Given the description of an element on the screen output the (x, y) to click on. 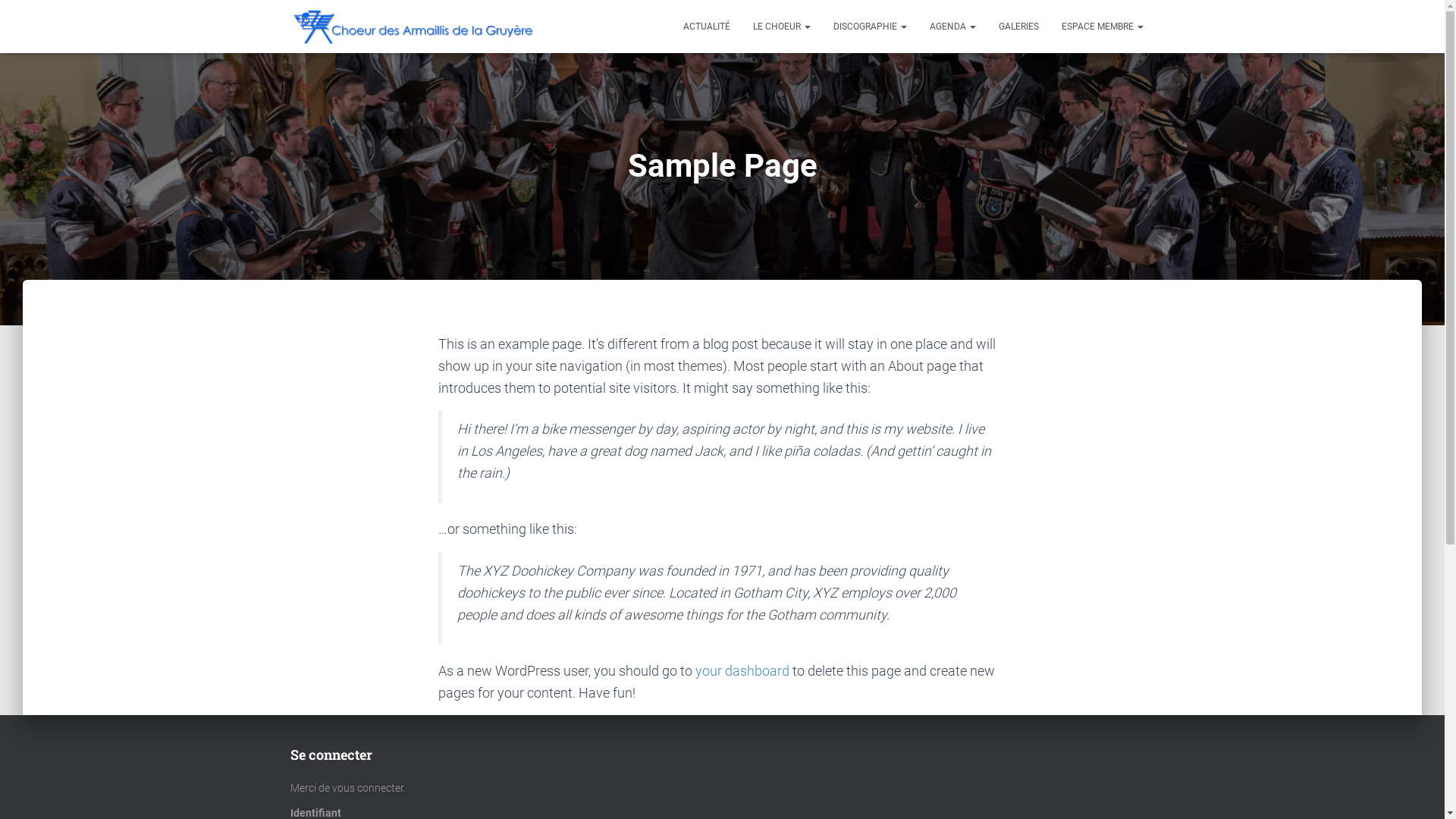
LE CHOEUR Element type: text (781, 26)
GALERIES Element type: text (1018, 26)
ESPACE MEMBRE Element type: text (1101, 26)
your dashboard Element type: text (741, 670)
AGENDA Element type: text (951, 26)
DISCOGRAPHIE Element type: text (870, 26)
